Given the description of an element on the screen output the (x, y) to click on. 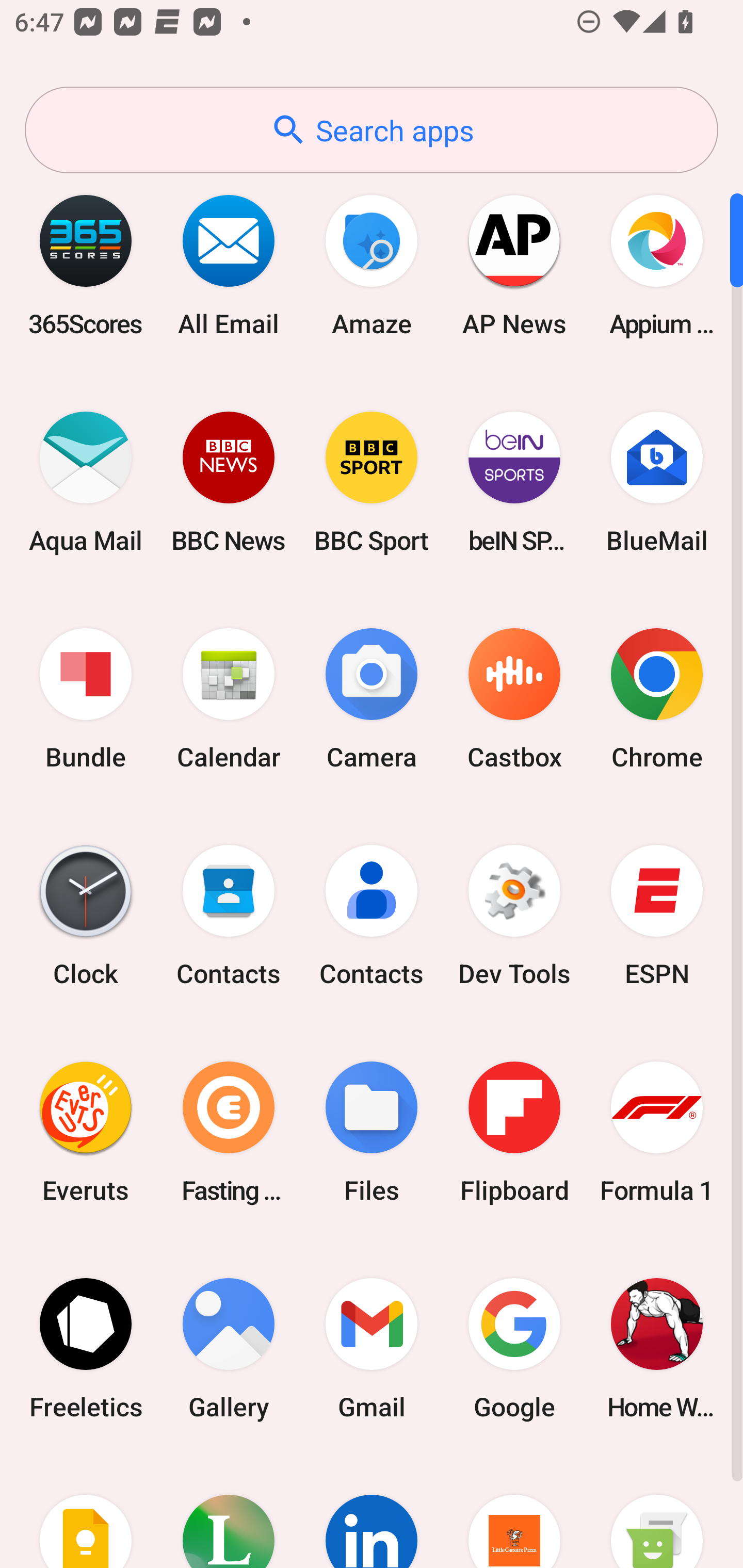
  Search apps (371, 130)
365Scores (85, 264)
All Email (228, 264)
Amaze (371, 264)
AP News (514, 264)
Appium Settings (656, 264)
Aqua Mail (85, 482)
BBC News (228, 482)
BBC Sport (371, 482)
beIN SPORTS (514, 482)
BlueMail (656, 482)
Bundle (85, 699)
Calendar (228, 699)
Camera (371, 699)
Castbox (514, 699)
Chrome (656, 699)
Clock (85, 915)
Contacts (228, 915)
Contacts (371, 915)
Dev Tools (514, 915)
ESPN (656, 915)
Everuts (85, 1131)
Fasting Coach (228, 1131)
Files (371, 1131)
Flipboard (514, 1131)
Formula 1 (656, 1131)
Freeletics (85, 1348)
Gallery (228, 1348)
Gmail (371, 1348)
Google (514, 1348)
Home Workout (656, 1348)
